Given the description of an element on the screen output the (x, y) to click on. 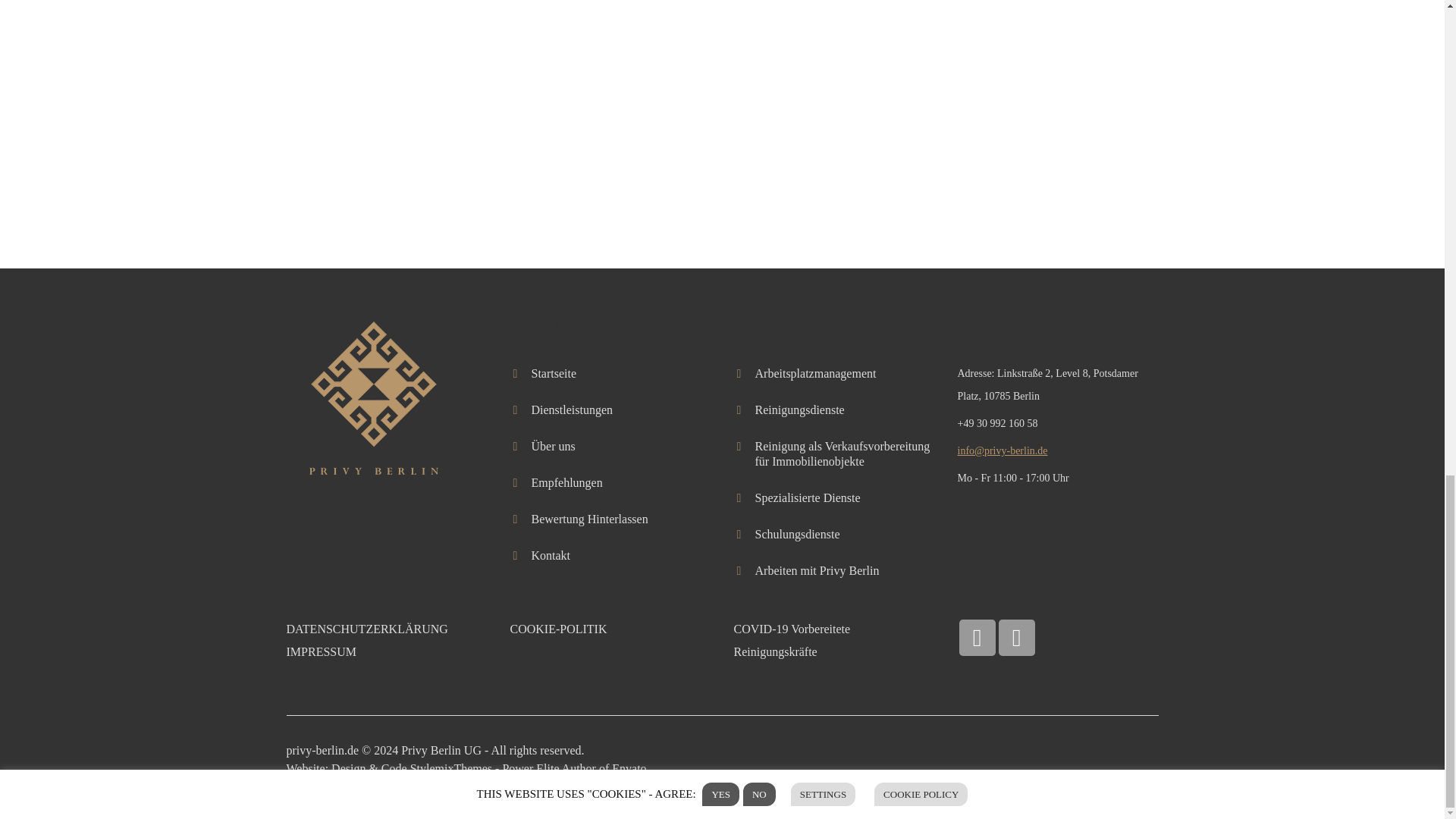
Empfehlungen (566, 481)
Dienstleistungen (571, 409)
Kontakt (550, 554)
Facebook (1015, 637)
Schulungsdienste (797, 533)
Bewertung Hinterlassen (589, 518)
Arbeitsplatzmanagement (815, 373)
LinkedIn (976, 637)
Arbeiten mit Privy Berlin (817, 570)
Startseite (553, 373)
Spezialisierte Dienste (807, 497)
Reinigungsdienste (799, 409)
